Given the description of an element on the screen output the (x, y) to click on. 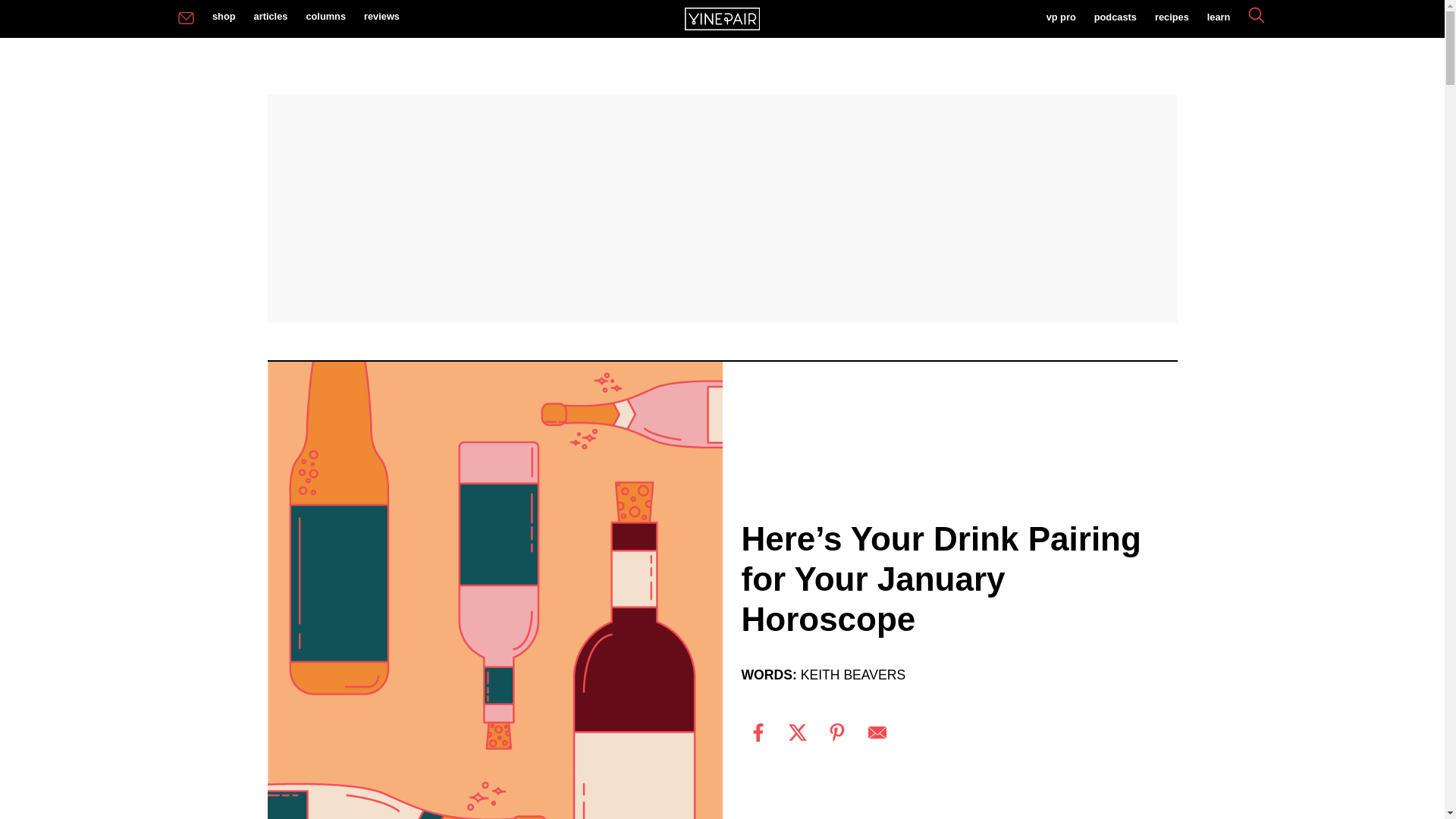
reviews (382, 17)
shop (223, 17)
vp pro (1060, 17)
articles (270, 17)
columns (326, 17)
podcasts (1114, 17)
